Given the description of an element on the screen output the (x, y) to click on. 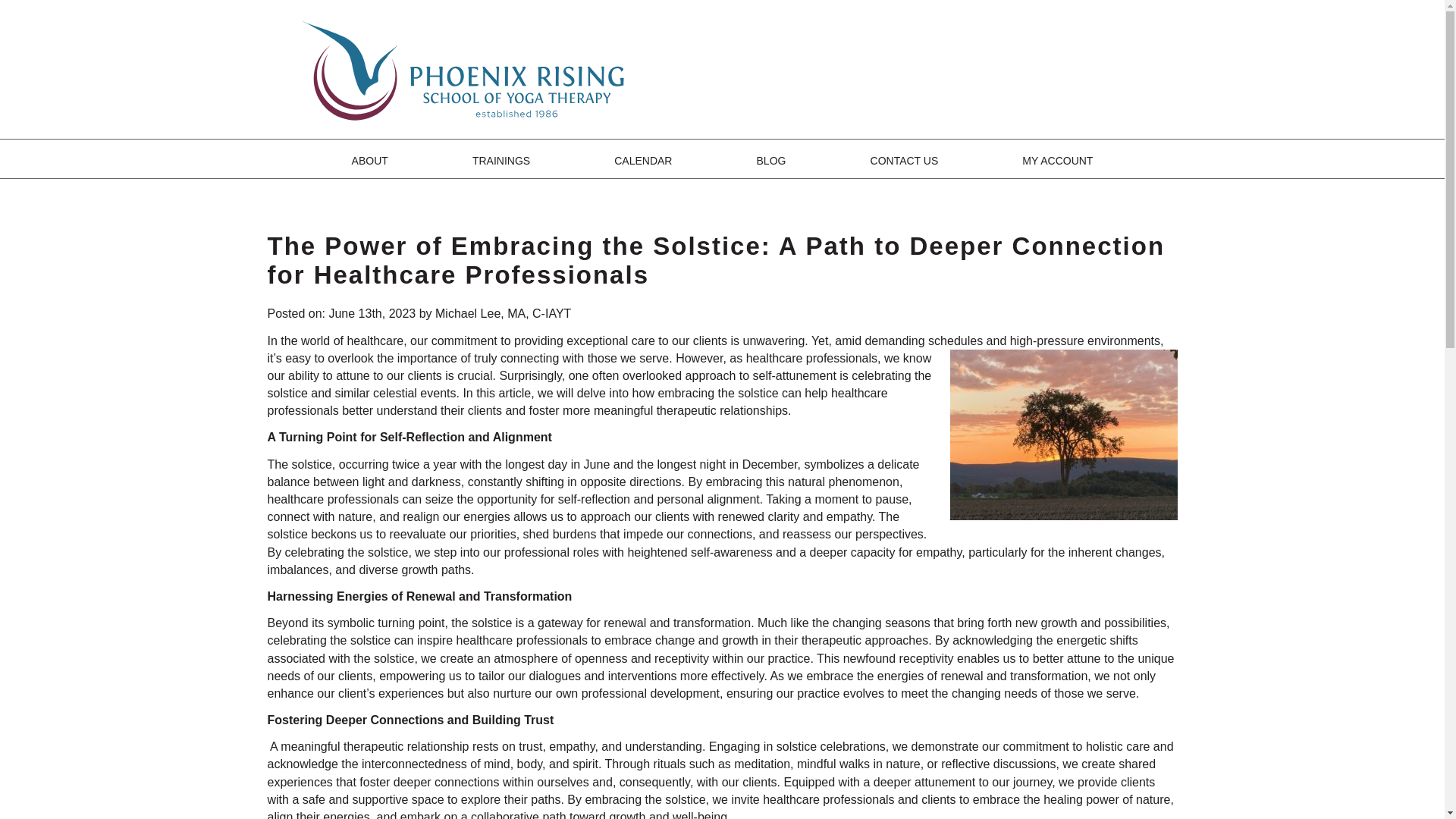
CALENDAR (642, 160)
CONTACT US (904, 160)
TRAININGS (500, 160)
ABOUT (370, 160)
MY ACCOUNT (1057, 160)
BLOG (771, 160)
